Given the description of an element on the screen output the (x, y) to click on. 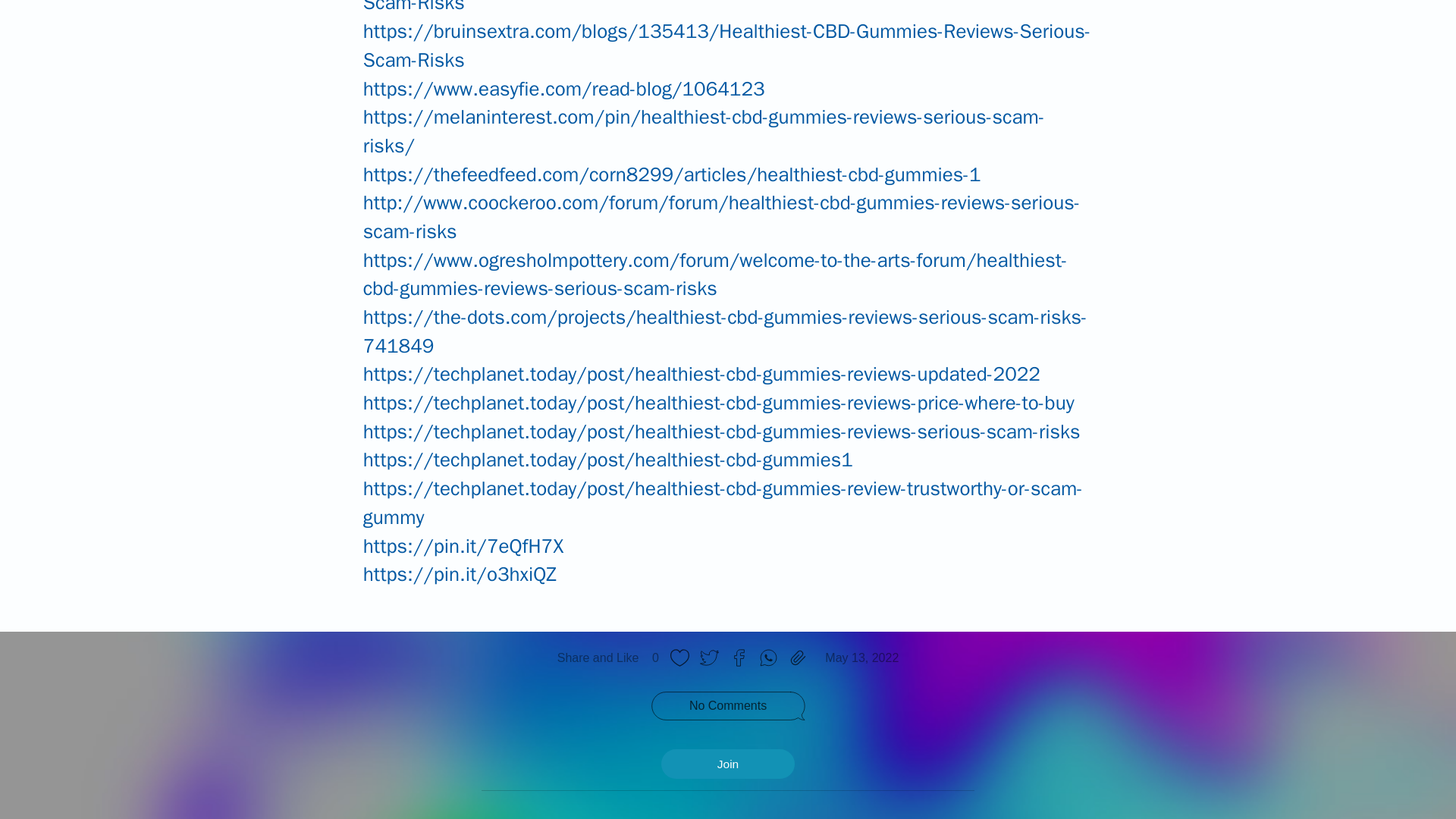
Share on Whatsapp (768, 657)
Share on Twitter (708, 657)
Join (727, 763)
Share on Facebook (738, 657)
No Comments (728, 705)
